Given the description of an element on the screen output the (x, y) to click on. 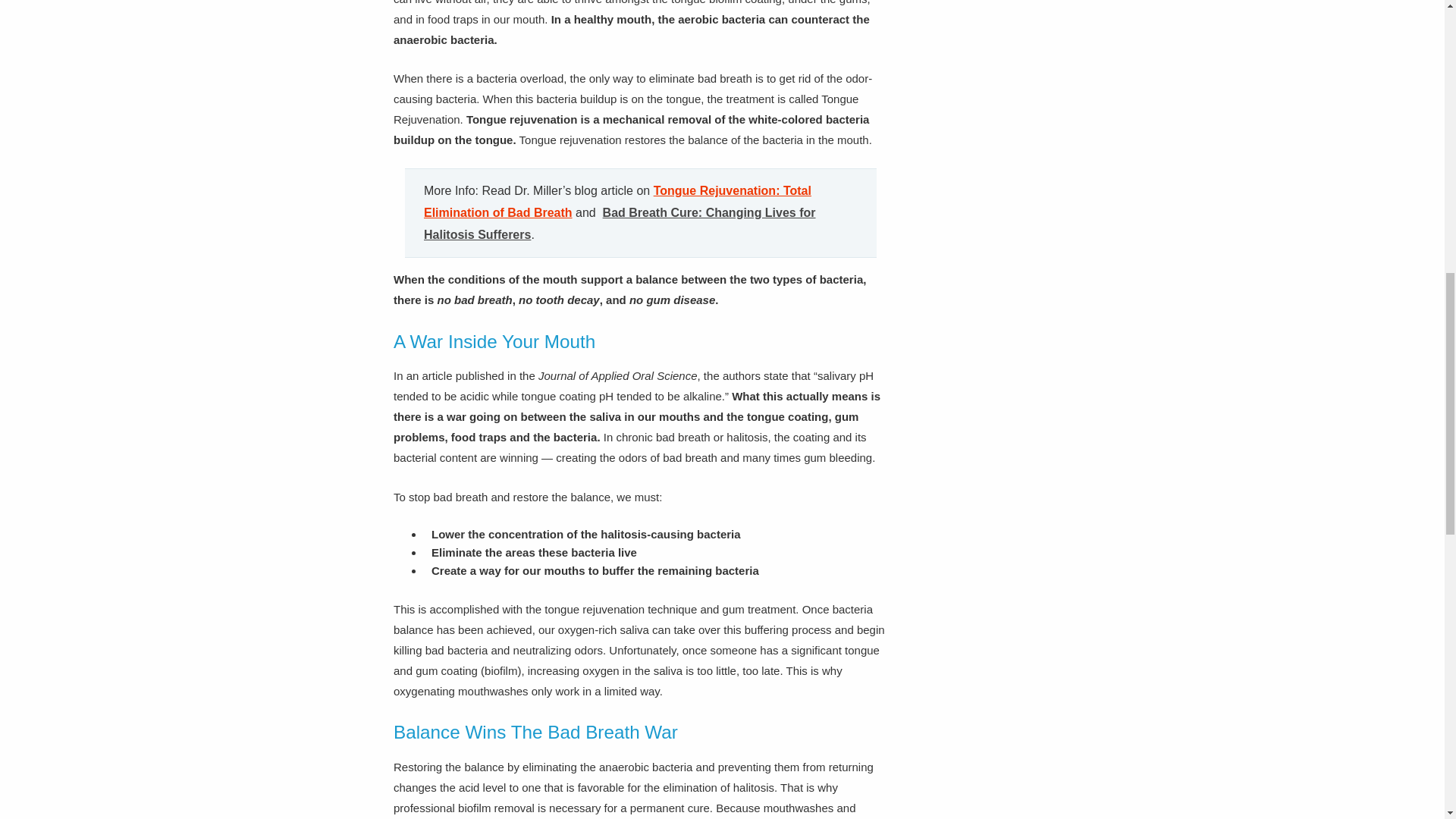
Bad Breath Cure: Changing Lives for Halitosis Sufferers (619, 223)
